Given the description of an element on the screen output the (x, y) to click on. 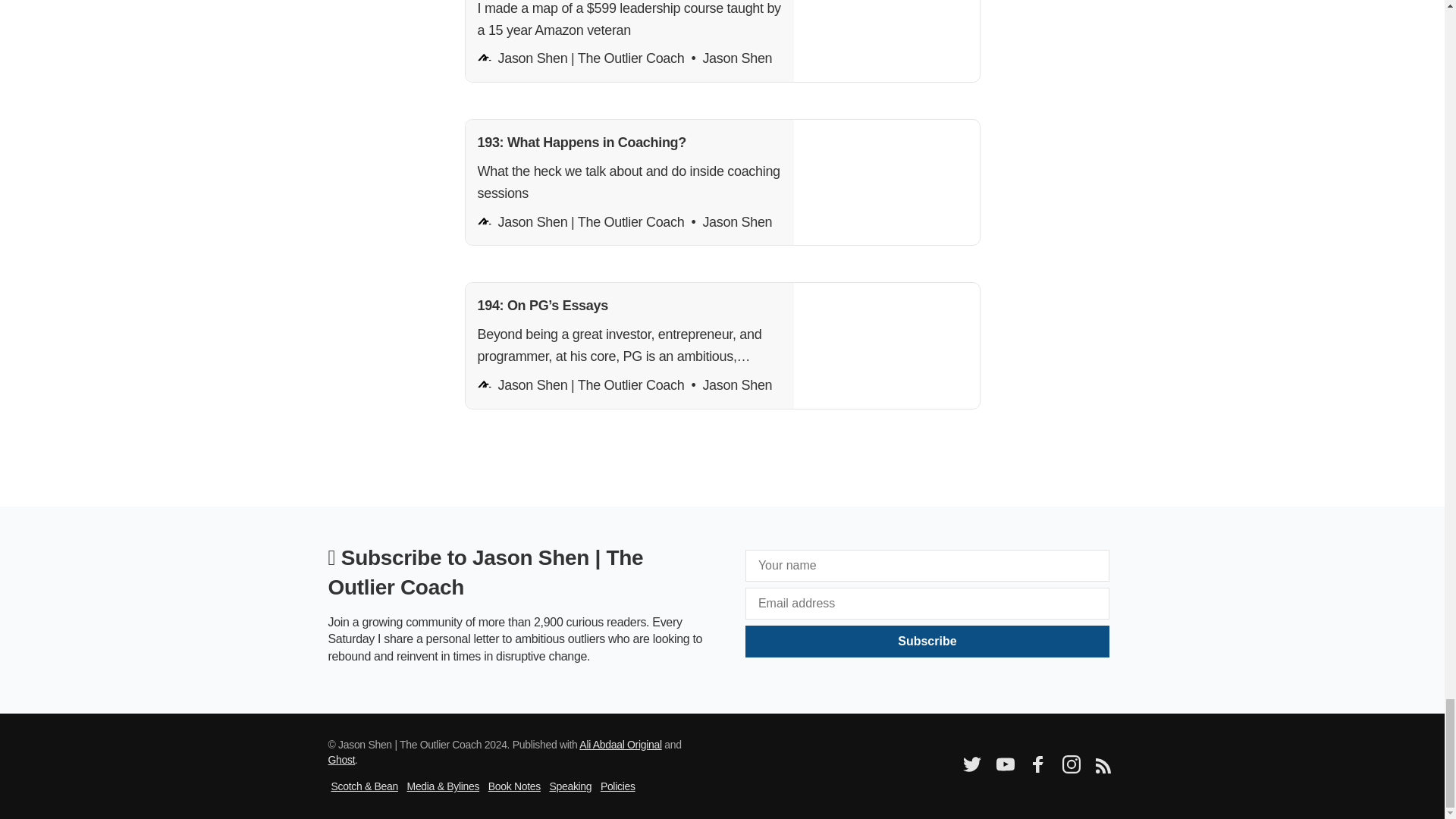
Ali Abdaal Original theme by Super Themes Co. (620, 744)
Ghost (341, 759)
Ali Abdaal Original (620, 744)
Speaking (569, 786)
Policies (616, 786)
Subscribe (927, 641)
RSS (1101, 769)
Ghost (341, 759)
Book Notes (513, 786)
